Given the description of an element on the screen output the (x, y) to click on. 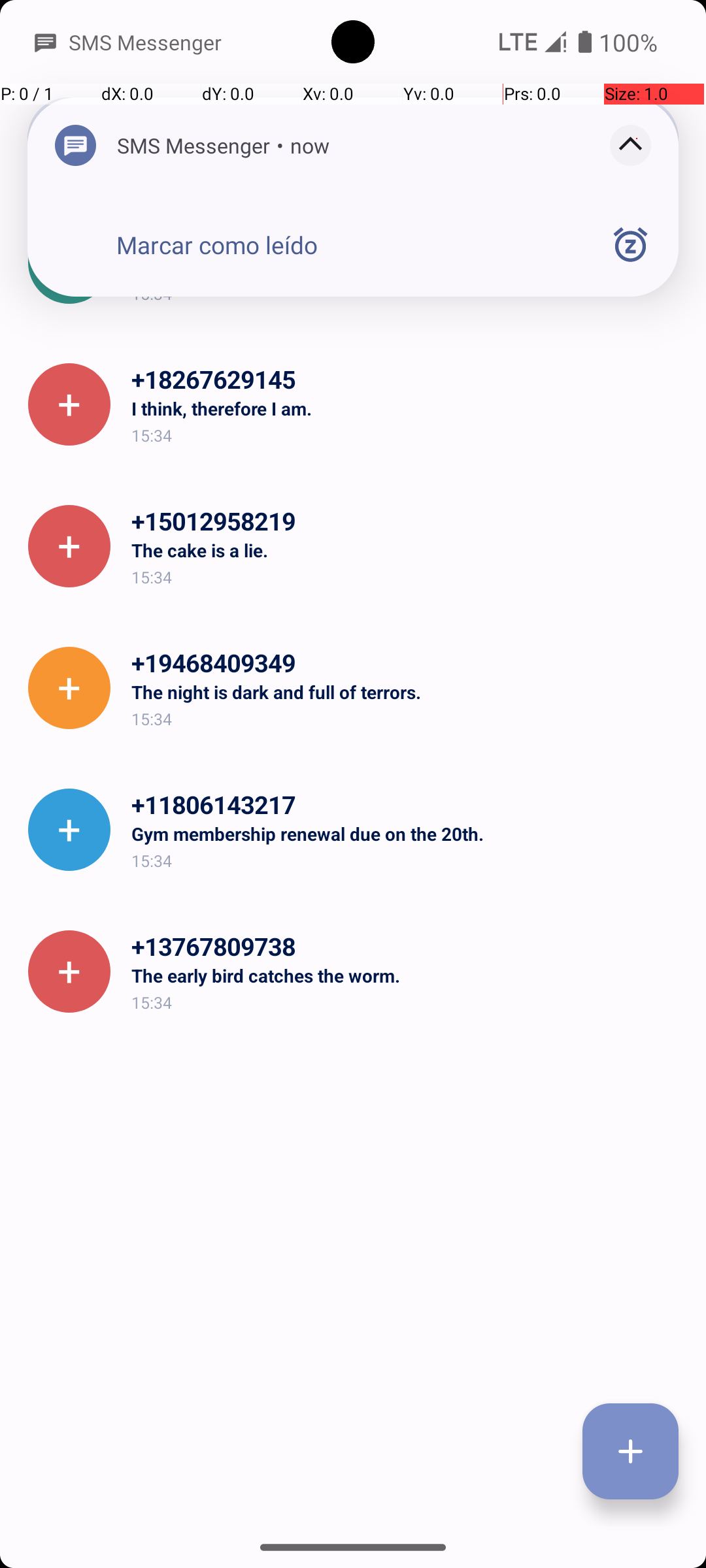
Acerca de Element type: android.widget.Button (560, 138)
+15881776797 Element type: android.widget.TextView (408, 237)
The night is dark and full of terrors. Element type: android.widget.TextView (408, 266)
+18267629145 Element type: android.widget.TextView (408, 378)
I think, therefore I am. Element type: android.widget.TextView (408, 407)
+15012958219 Element type: android.widget.TextView (408, 520)
The cake is a lie. Element type: android.widget.TextView (408, 549)
+19468409349 Element type: android.widget.TextView (408, 662)
+11806143217 Element type: android.widget.TextView (408, 804)
Gym membership renewal due on the 20th. Element type: android.widget.TextView (408, 833)
+13767809738 Element type: android.widget.TextView (408, 946)
The early bird catches the worm. Element type: android.widget.TextView (408, 975)
Marcar como leído Element type: android.widget.Button (216, 244)
notification snooze options Element type: android.widget.ImageView (630, 244)
• Element type: android.widget.TextView (279, 145)
now Element type: android.widget.TextView (309, 145)
